Given the description of an element on the screen output the (x, y) to click on. 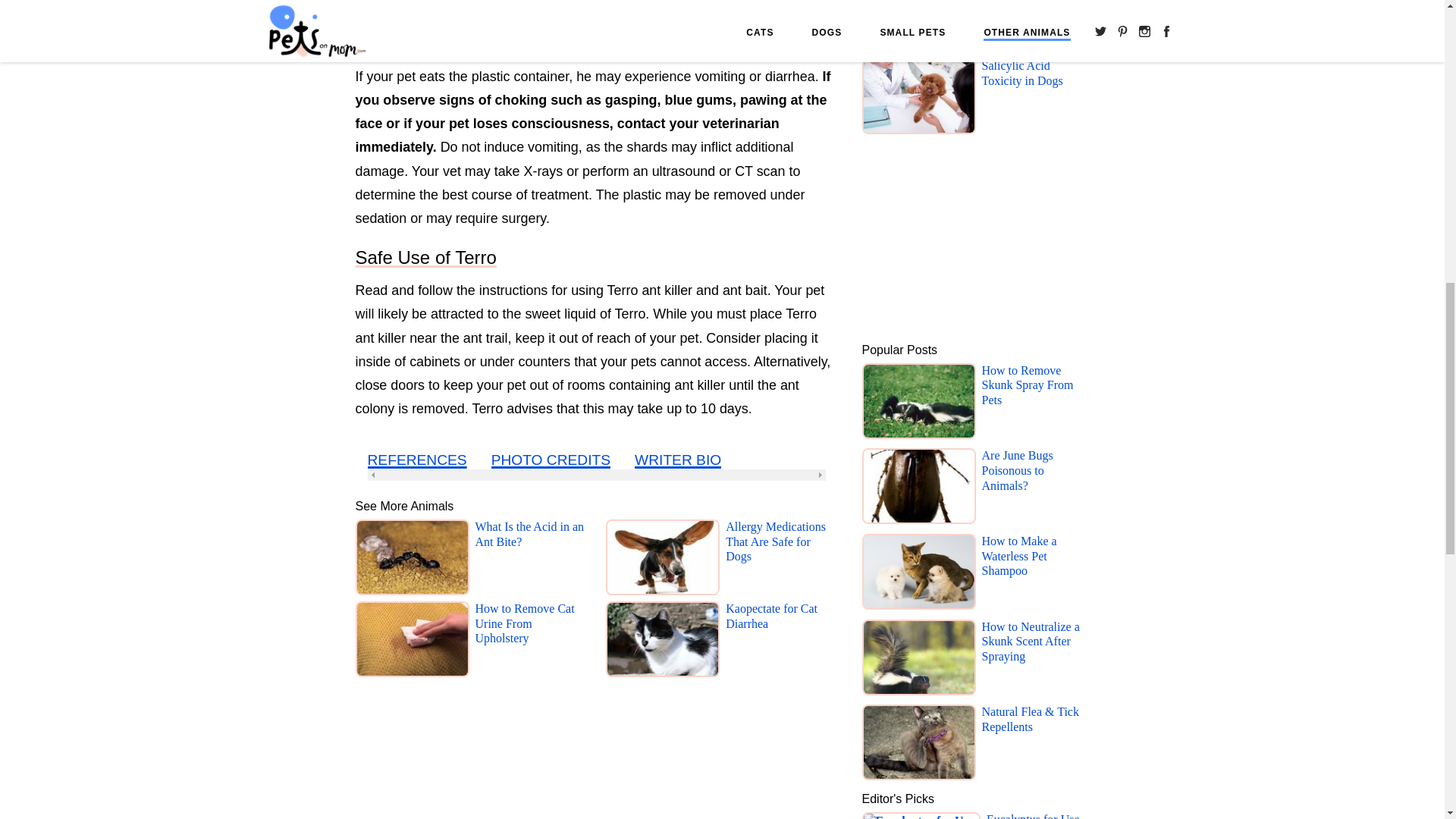
Kaopectate for Cat Diarrhea (781, 642)
What Is the Acid in an Ant Bite? (530, 560)
Allergy Medications That Are Safe for Dogs (781, 560)
How to Remove Cat Urine From Upholstery (530, 642)
